Given the description of an element on the screen output the (x, y) to click on. 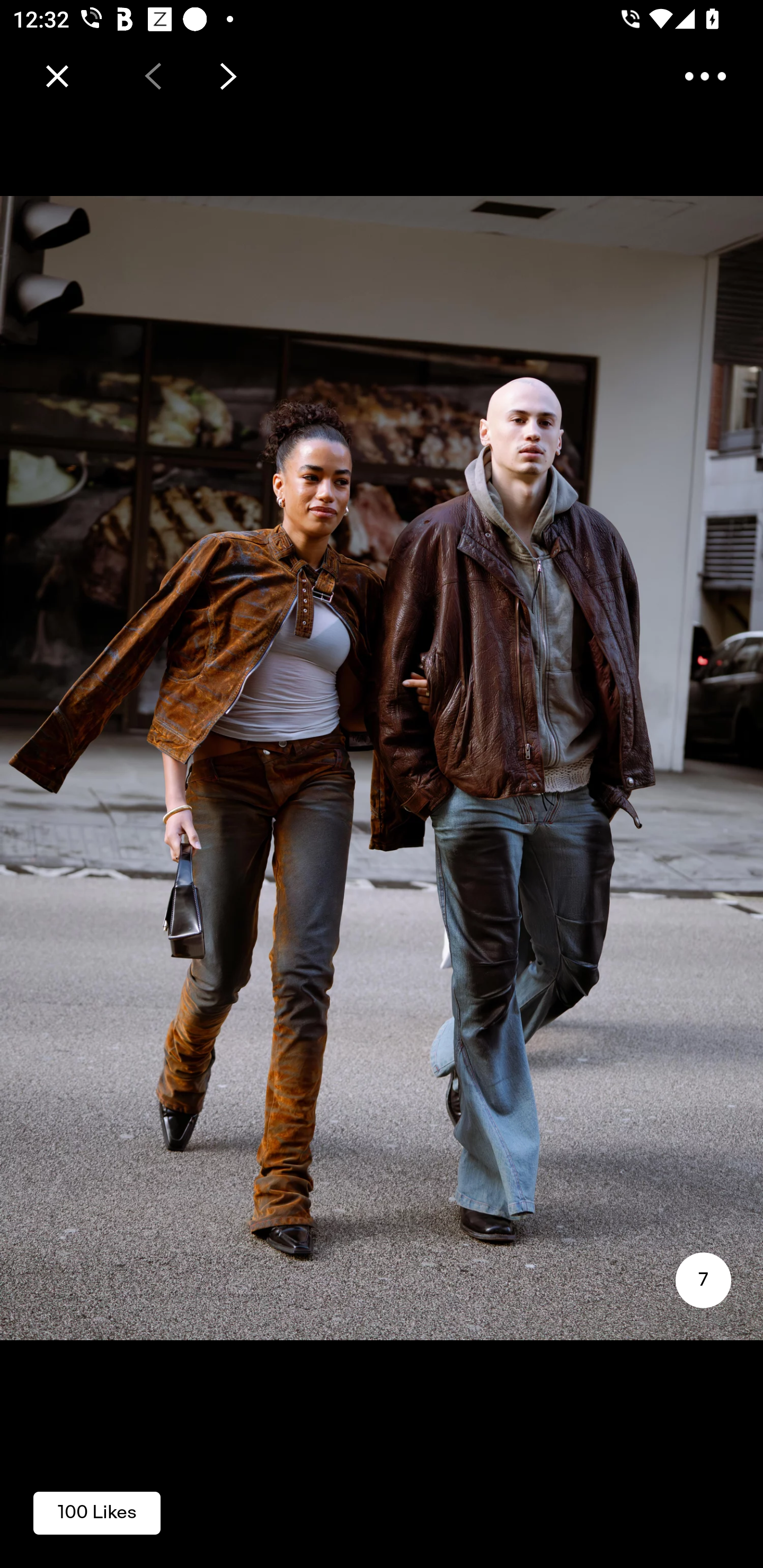
7 (702, 1279)
100 Likes (96, 1512)
